Given the description of an element on the screen output the (x, y) to click on. 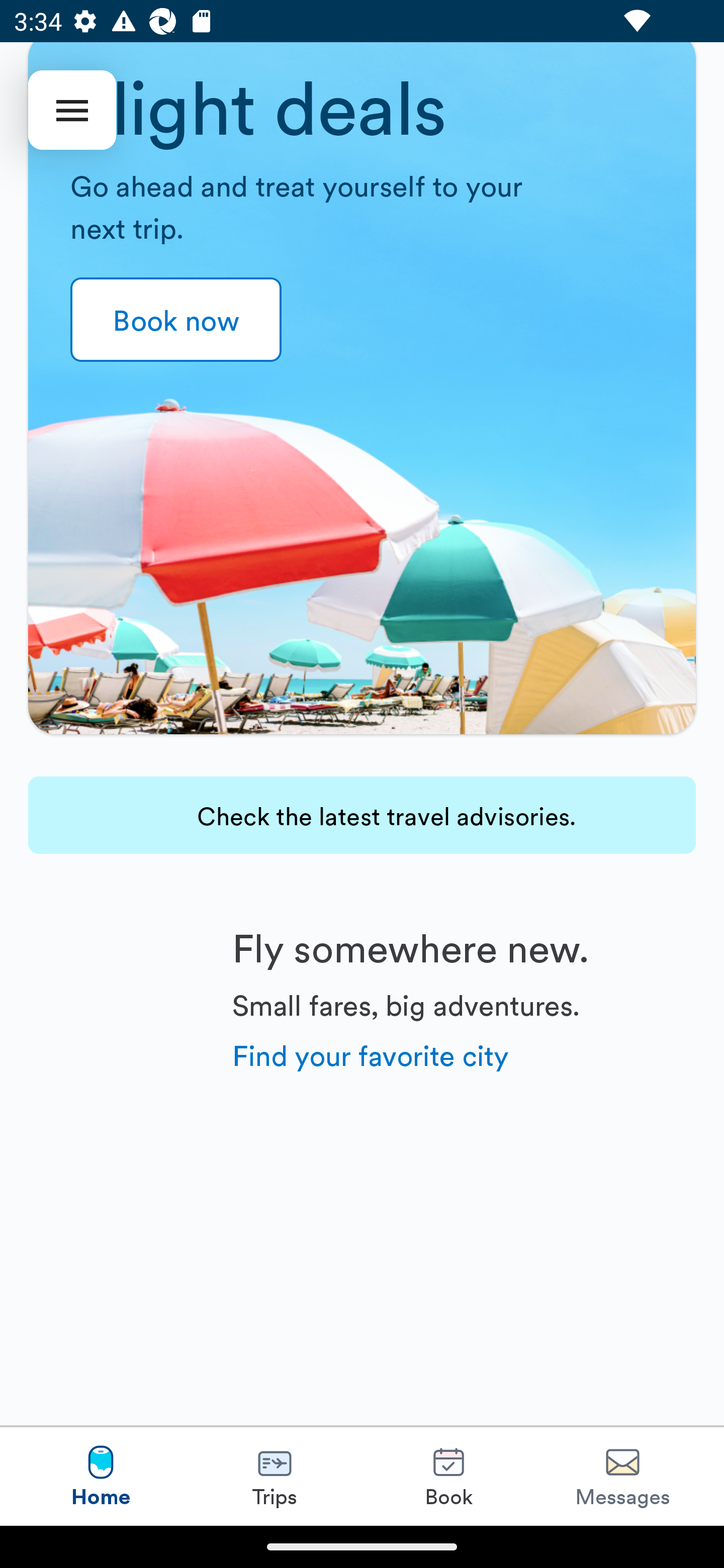
Book now (175, 319)
Check the latest travel advisories. (361, 815)
Find your favorite city (370, 1054)
Home (100, 1475)
Trips (275, 1475)
Book (448, 1475)
Messages (622, 1475)
